Given the description of an element on the screen output the (x, y) to click on. 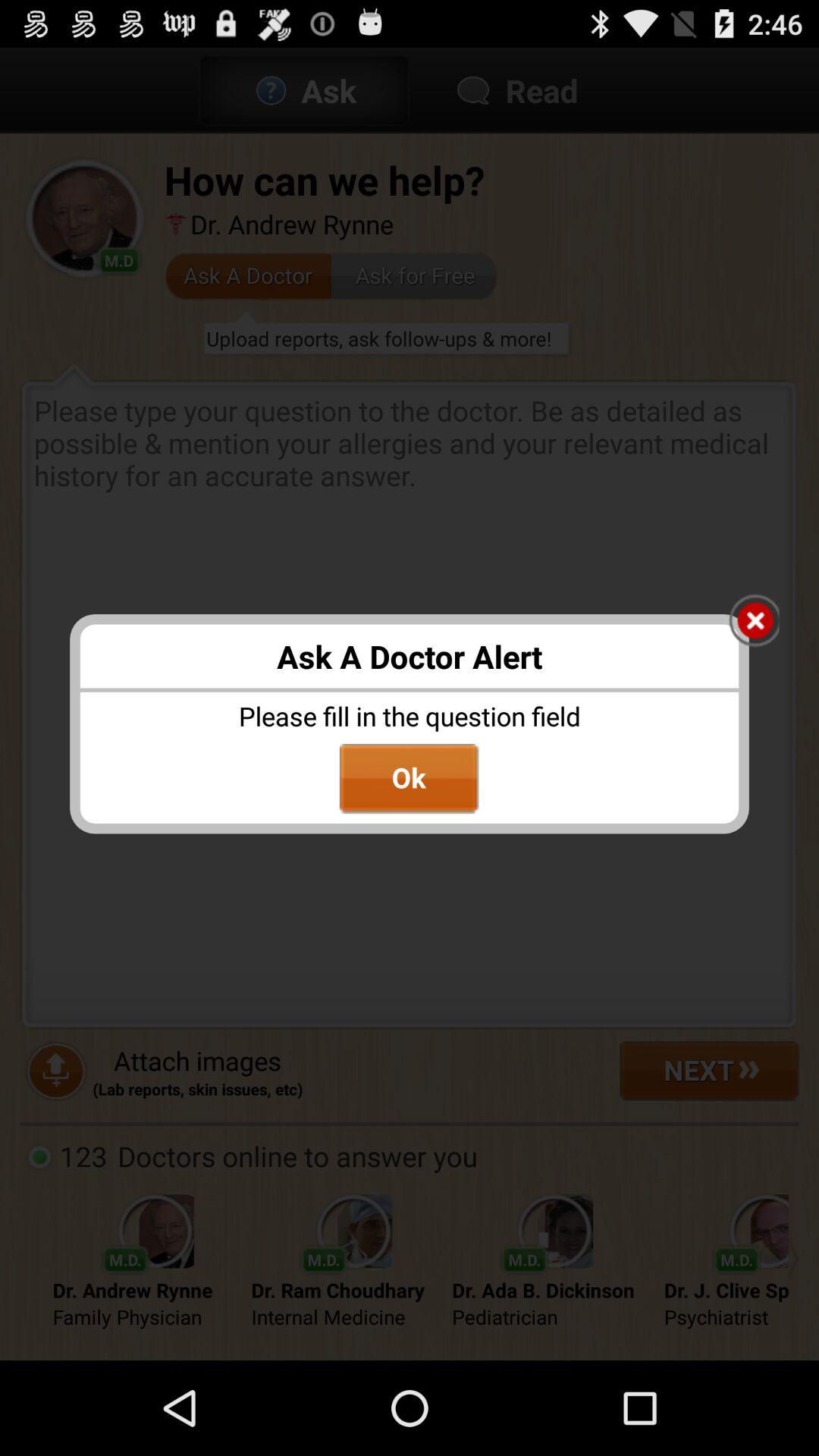
jump until ok item (408, 778)
